Given the description of an element on the screen output the (x, y) to click on. 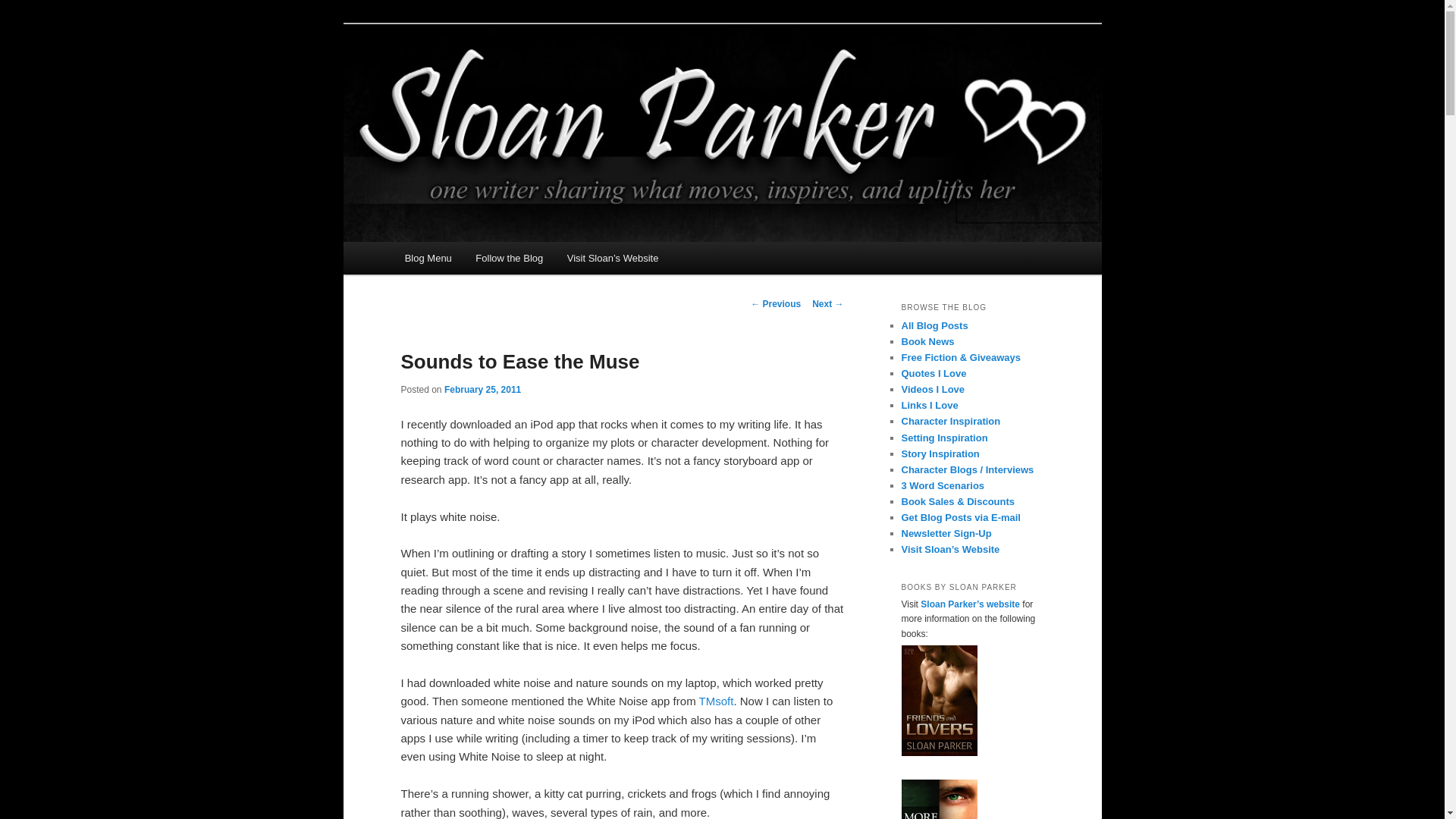
February 25, 2011 (482, 389)
4:38 PM (482, 389)
TMsoft (715, 700)
Follow the Blog (509, 257)
Sloan Parker Blog (497, 78)
White Noise (715, 700)
Blog Menu (428, 257)
